Given the description of an element on the screen output the (x, y) to click on. 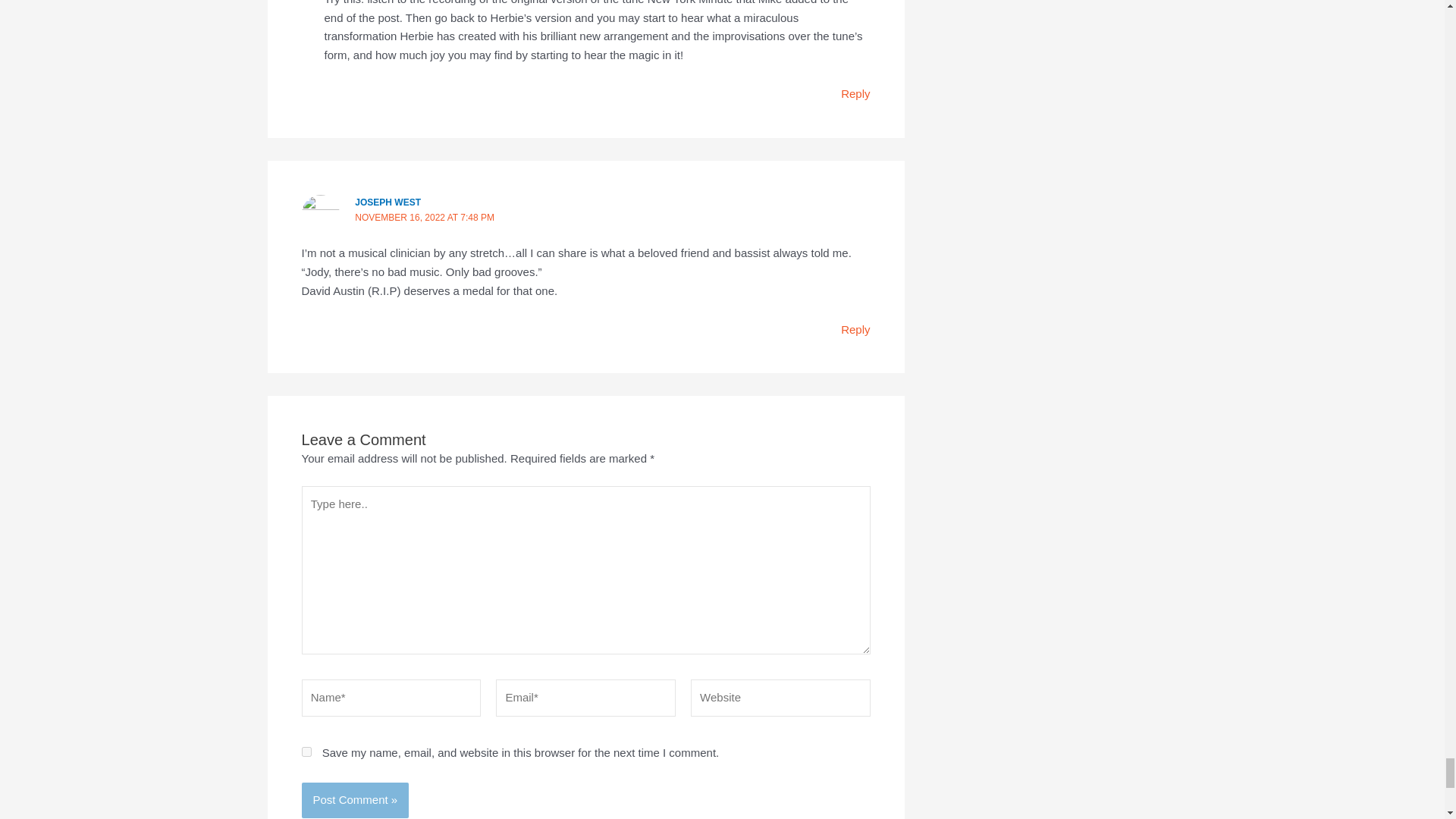
yes (306, 751)
